Given the description of an element on the screen output the (x, y) to click on. 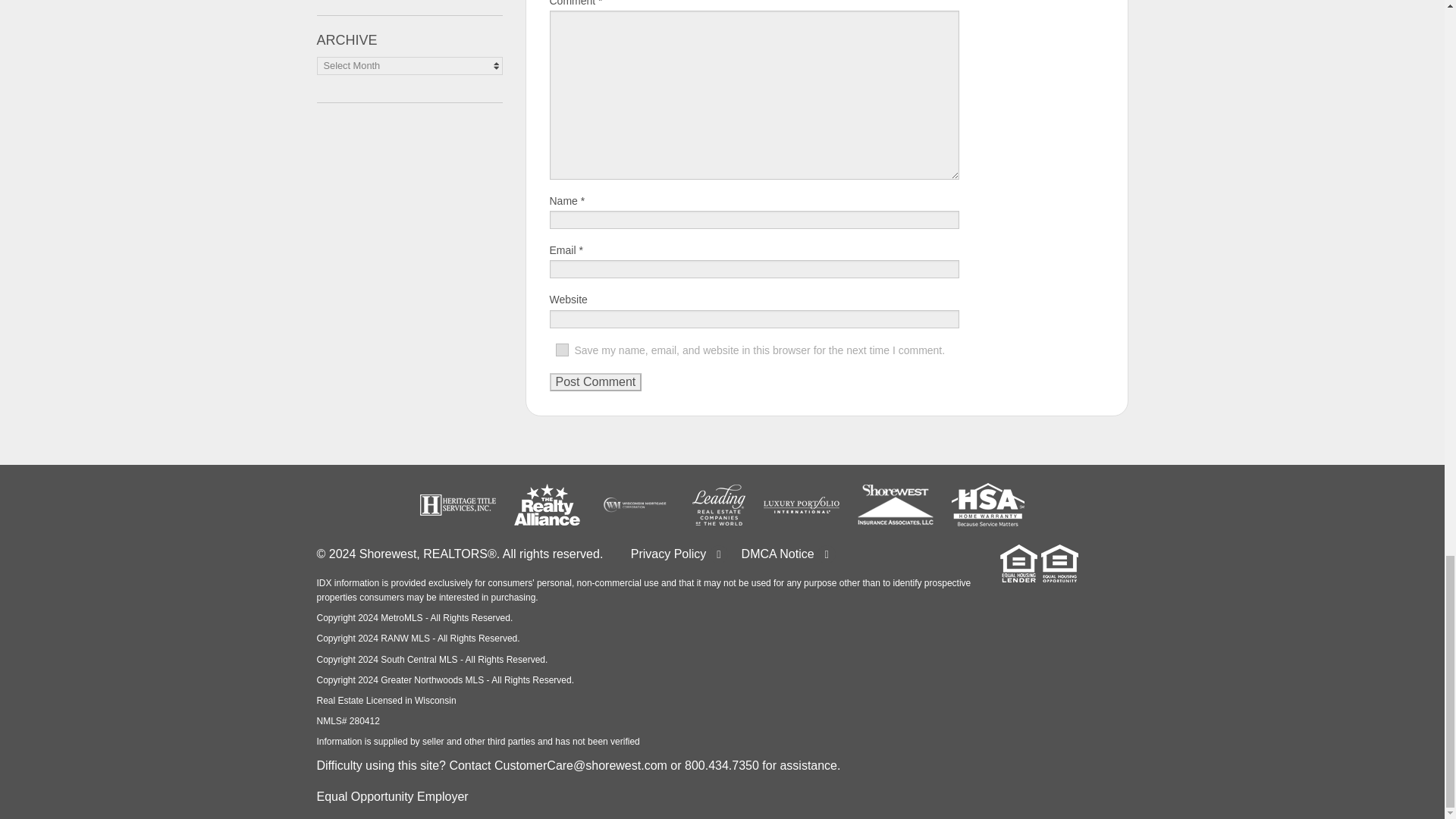
Post Comment (595, 382)
